Given the description of an element on the screen output the (x, y) to click on. 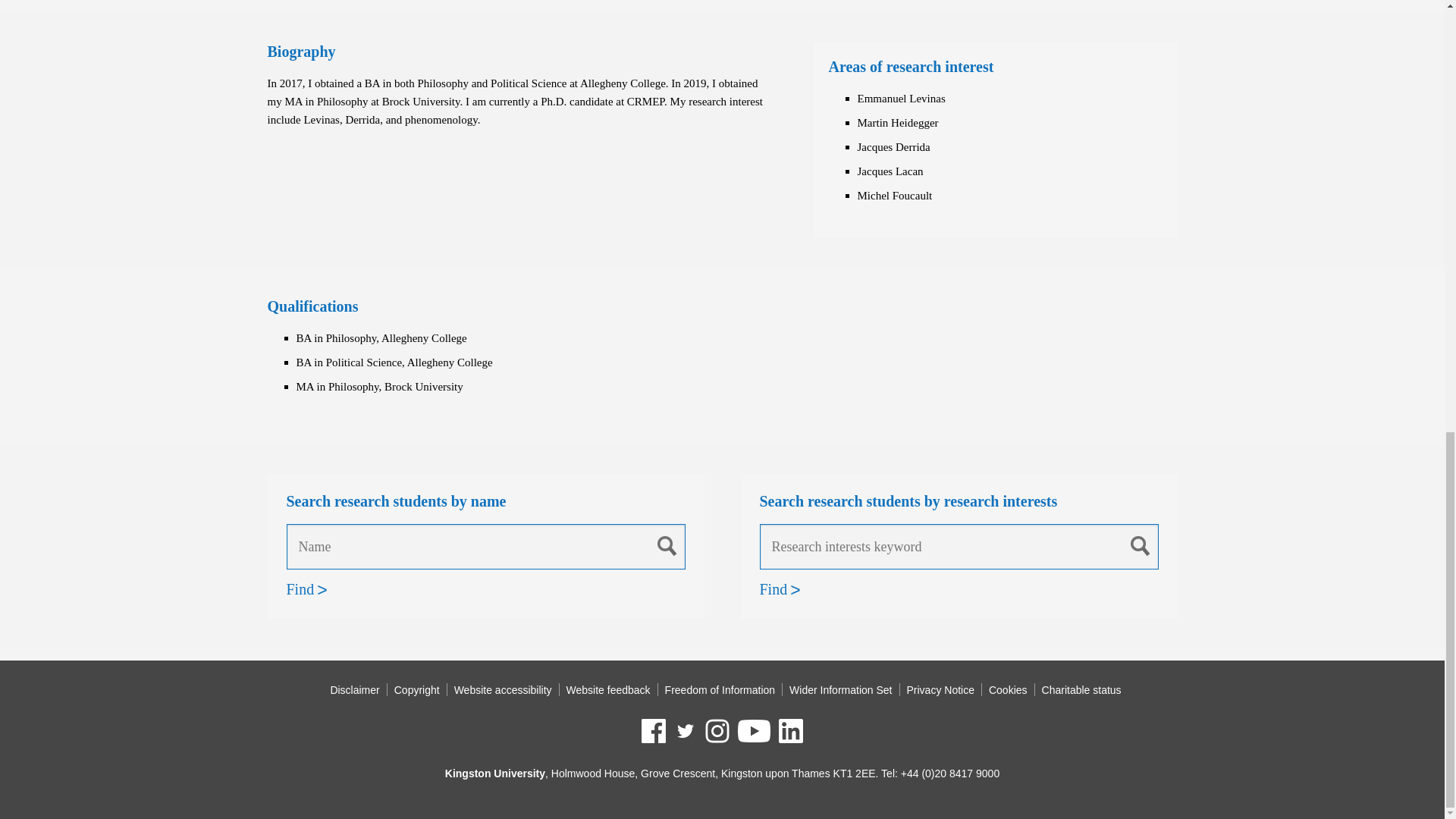
Search (667, 544)
Find (300, 589)
Find (773, 589)
Search (1140, 544)
